Given the description of an element on the screen output the (x, y) to click on. 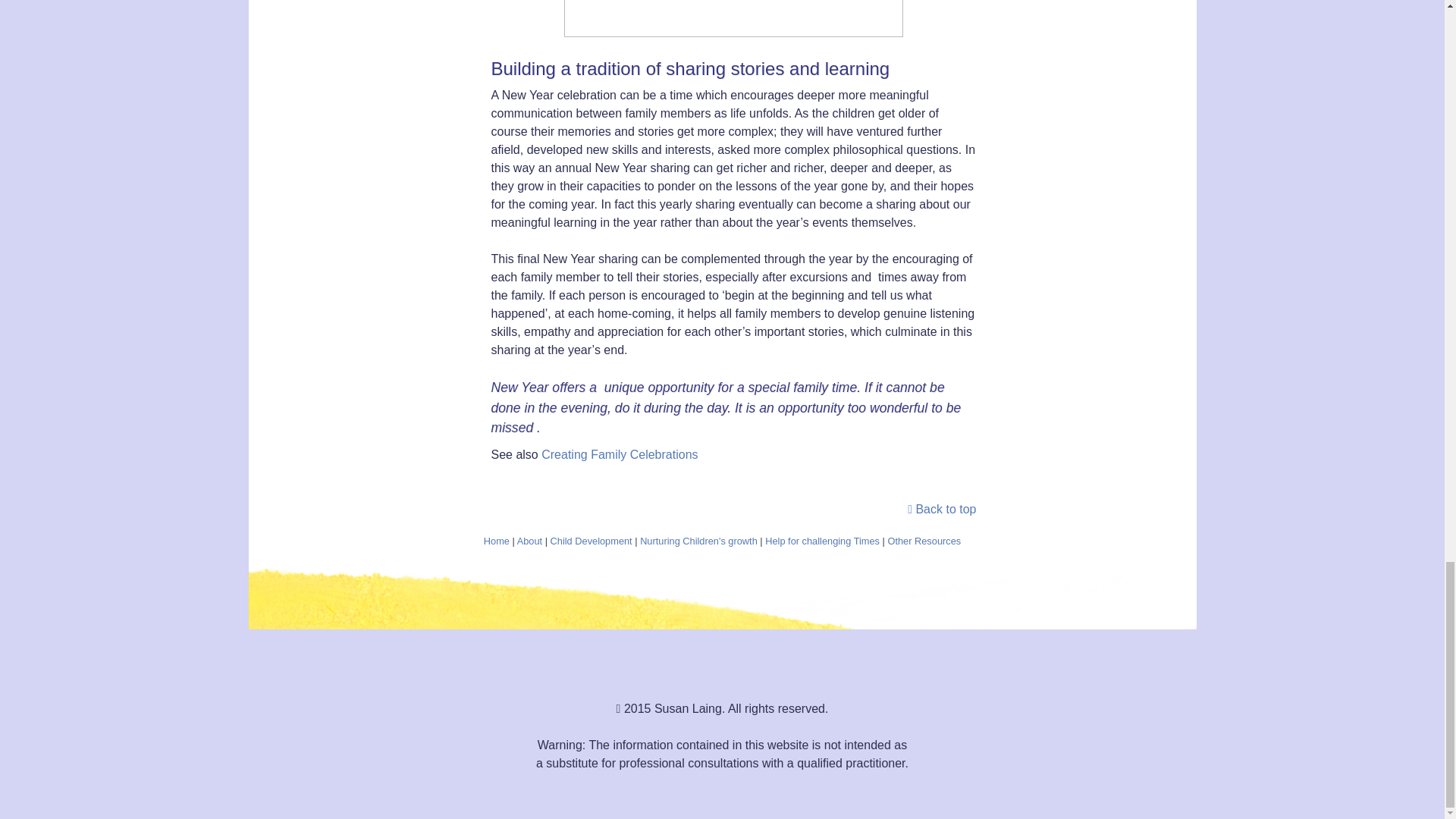
About (528, 541)
Help for challenging times (822, 541)
Welcome (496, 541)
Other Resources (923, 541)
Child development profiles (590, 541)
